Given the description of an element on the screen output the (x, y) to click on. 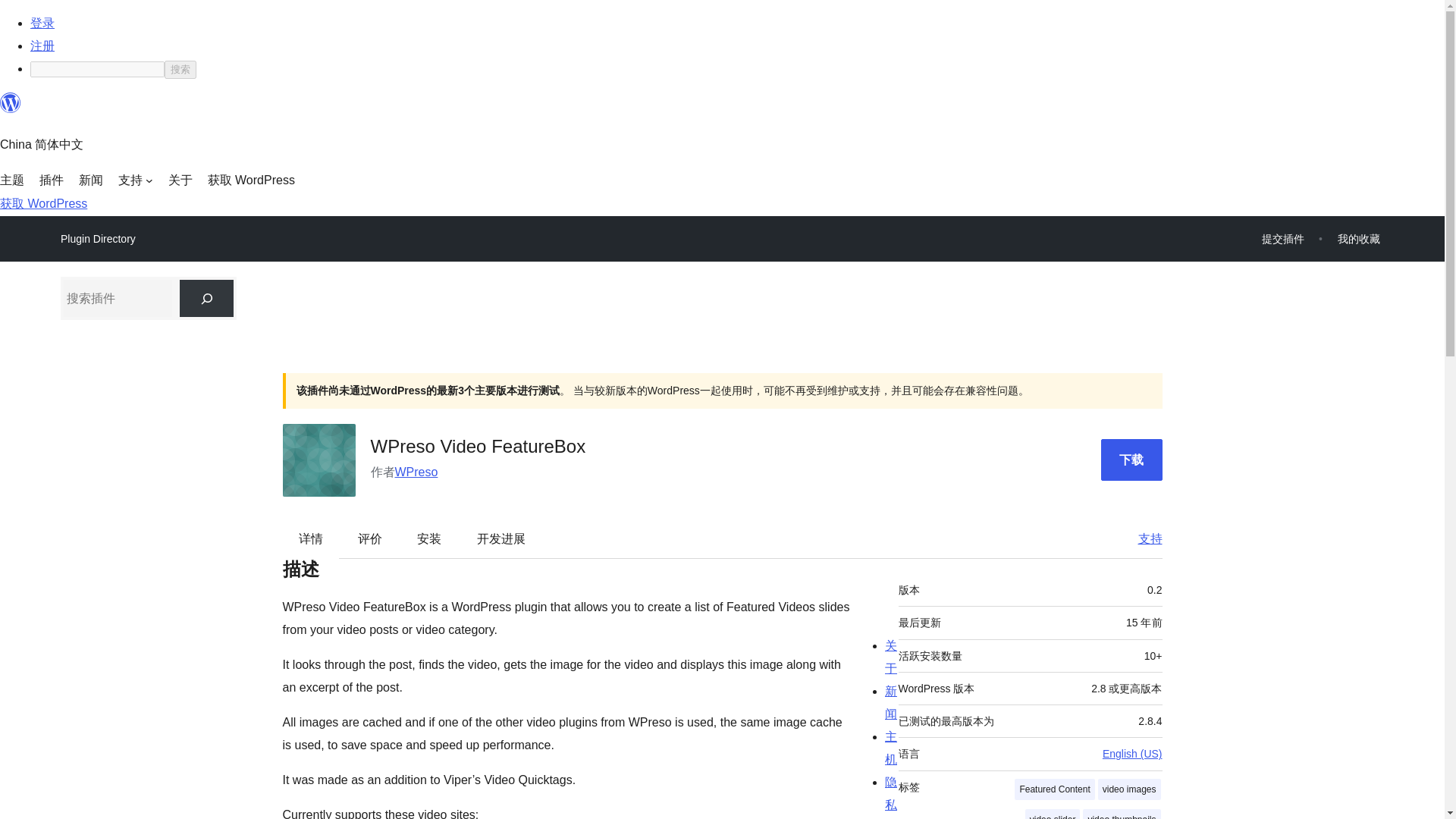
WordPress.org (10, 102)
WordPress.org (10, 109)
Plugin Directory (97, 238)
WPreso (416, 472)
